Given the description of an element on the screen output the (x, y) to click on. 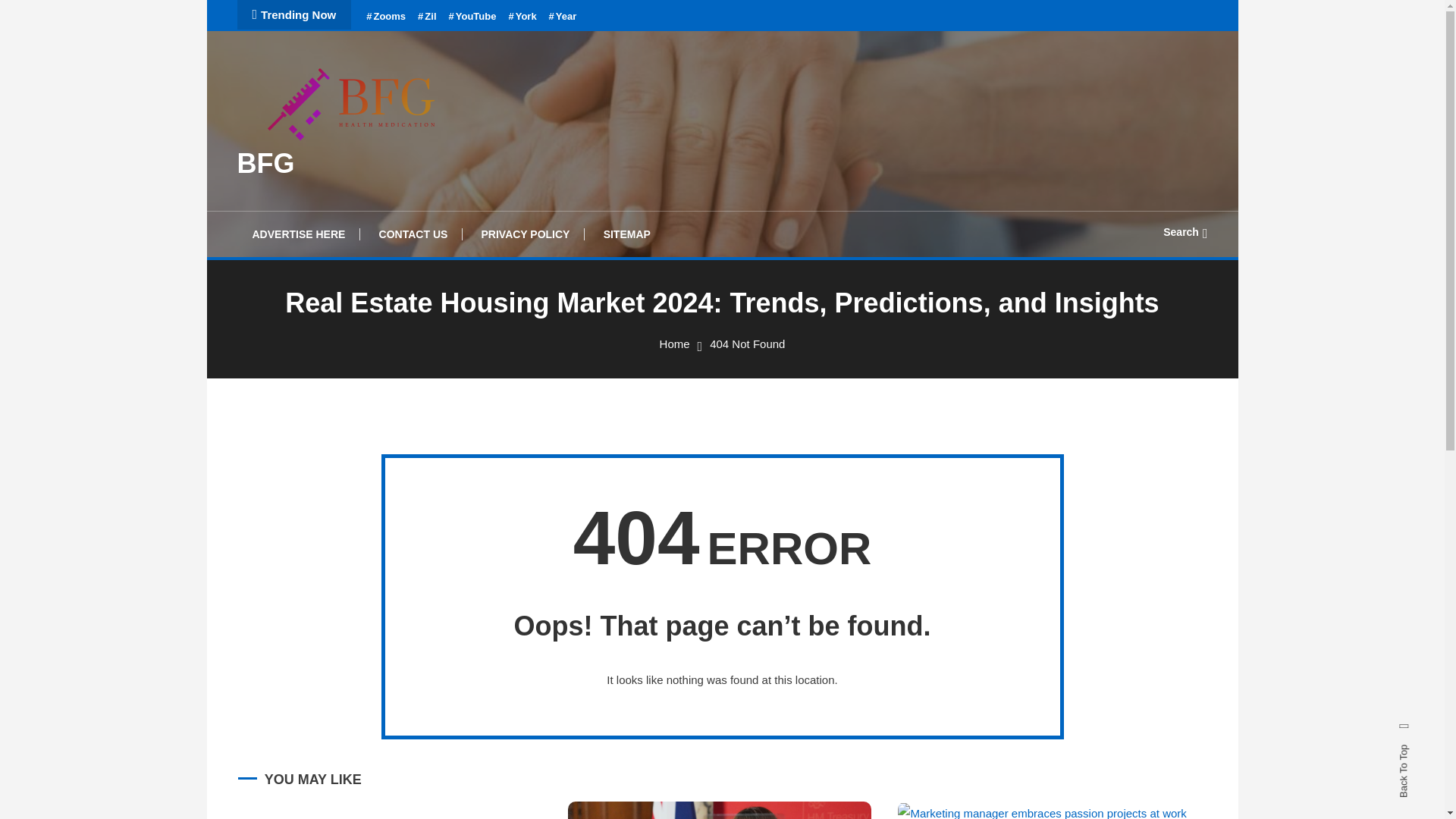
York (521, 16)
SITEMAP (626, 234)
Zil (426, 16)
Zooms (386, 16)
Search (1185, 232)
BFG (264, 163)
CONTACT US (413, 234)
Search (768, 434)
PRIVACY POLICY (525, 234)
YouTube (472, 16)
ADVERTISE HERE (297, 234)
Year (562, 16)
Home (674, 343)
